Given the description of an element on the screen output the (x, y) to click on. 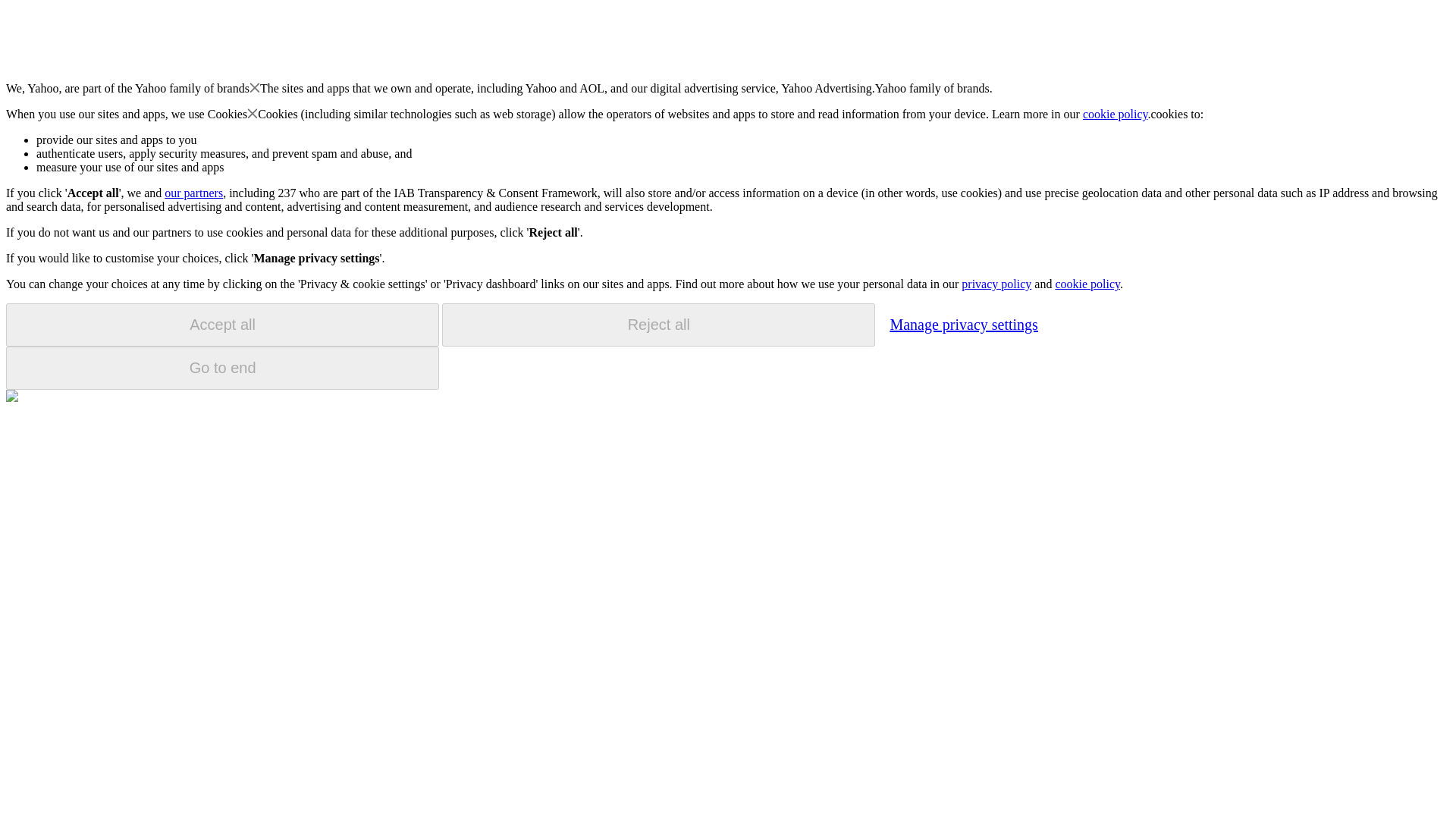
Accept all (222, 324)
Go to end (222, 367)
Reject all (658, 324)
privacy policy (995, 283)
cookie policy (1086, 283)
our partners (193, 192)
Manage privacy settings (963, 323)
cookie policy (1115, 113)
